Given the description of an element on the screen output the (x, y) to click on. 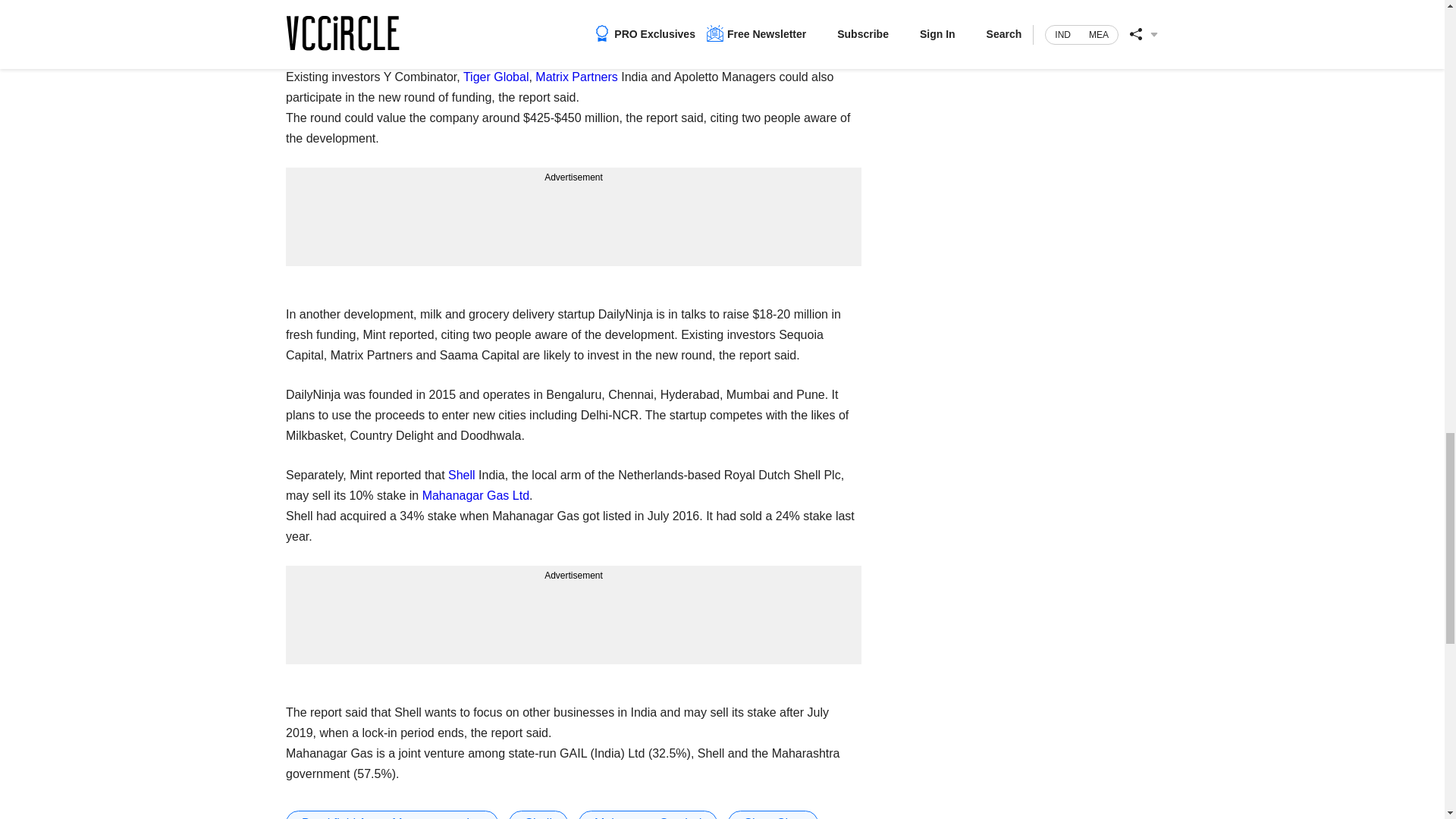
Matrix Partners (576, 76)
ShareChat (773, 814)
Sequoia Capital (328, 16)
Razorpay (604, 1)
Mahanagar Gas Ltd (647, 814)
Shell (537, 814)
Mahanagar Gas Ltd (475, 495)
Brookfield Asset Management Inc (391, 814)
Shell (462, 474)
Tiger Global (496, 76)
